Given the description of an element on the screen output the (x, y) to click on. 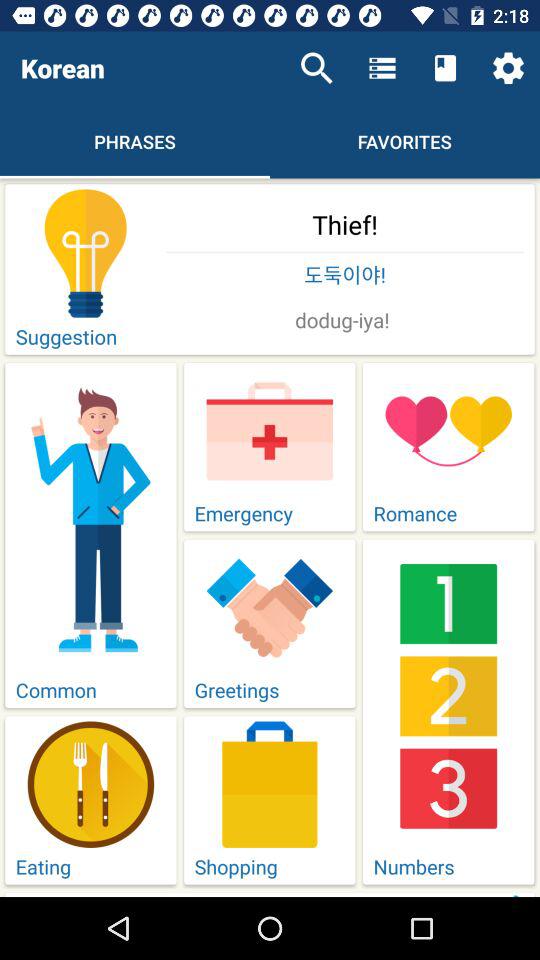
choose the icon below the eating (345, 894)
